Given the description of an element on the screen output the (x, y) to click on. 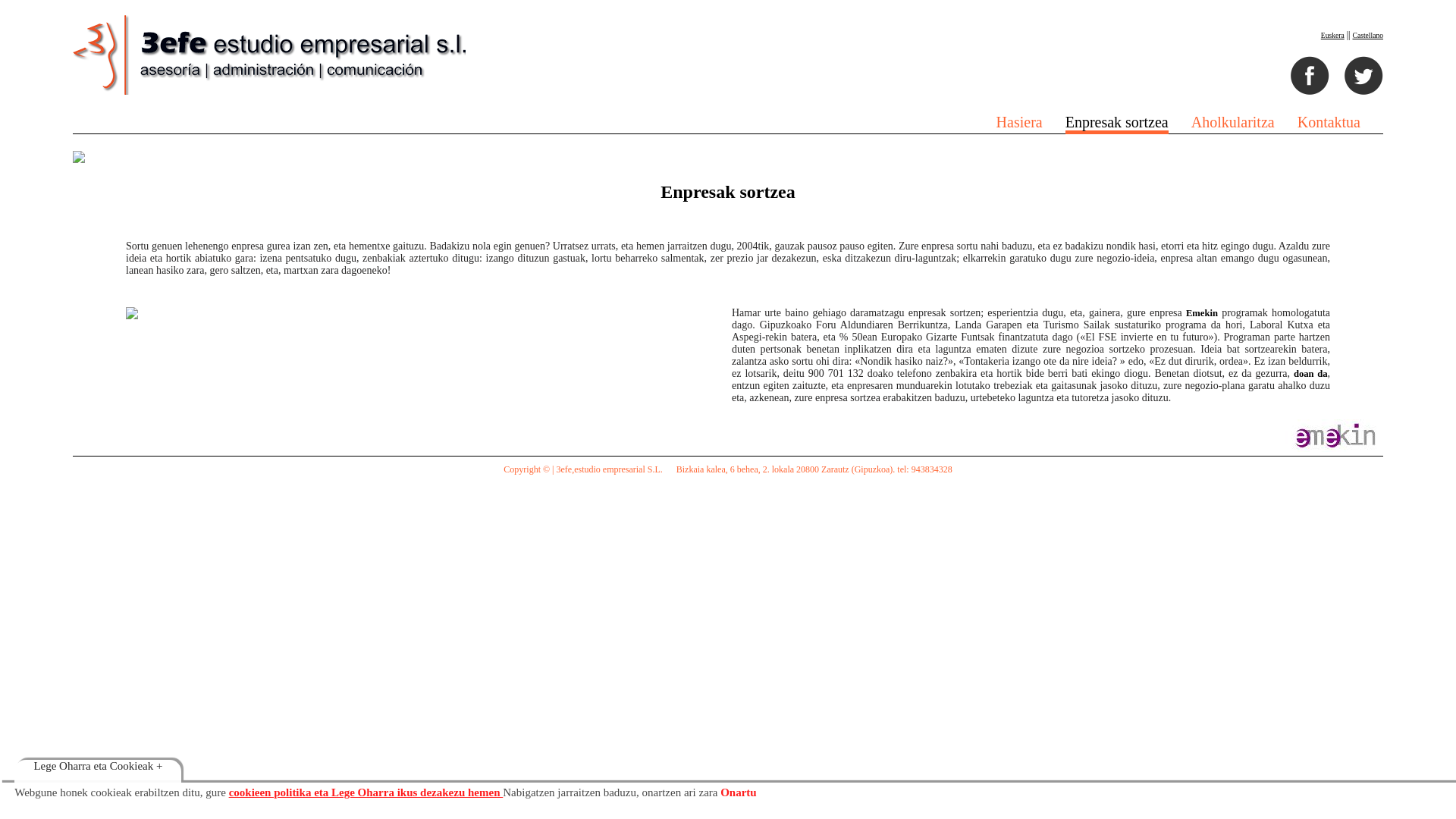
Kontaktua Element type: text (1328, 121)
Euskera Element type: text (1332, 35)
Onartu Element type: text (738, 792)
Castellano Element type: text (1367, 35)
Aholkularitza Element type: text (1232, 121)
Enpresak sortzea Element type: text (1116, 123)
Hasiera Element type: text (1019, 121)
cookieen politika eta Lege Oharra ikus dezakezu hemen Element type: text (366, 792)
